Given the description of an element on the screen output the (x, y) to click on. 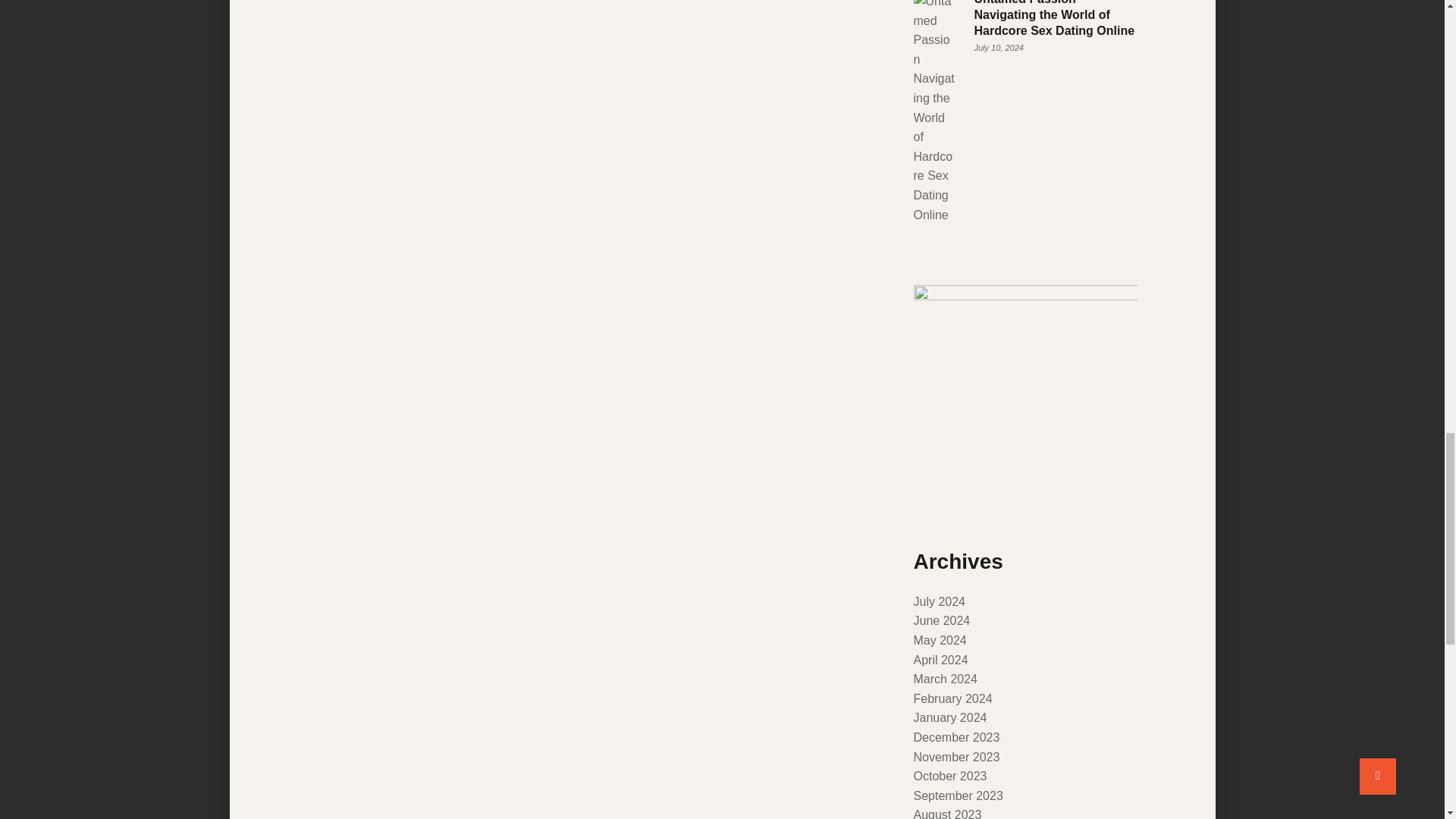
April 2024 (940, 659)
May 2024 (939, 640)
March 2024 (944, 678)
December 2023 (955, 737)
January 2024 (949, 717)
September 2023 (957, 795)
July 2024 (938, 601)
October 2023 (949, 775)
November 2023 (955, 757)
June 2024 (940, 620)
February 2024 (951, 698)
